Given the description of an element on the screen output the (x, y) to click on. 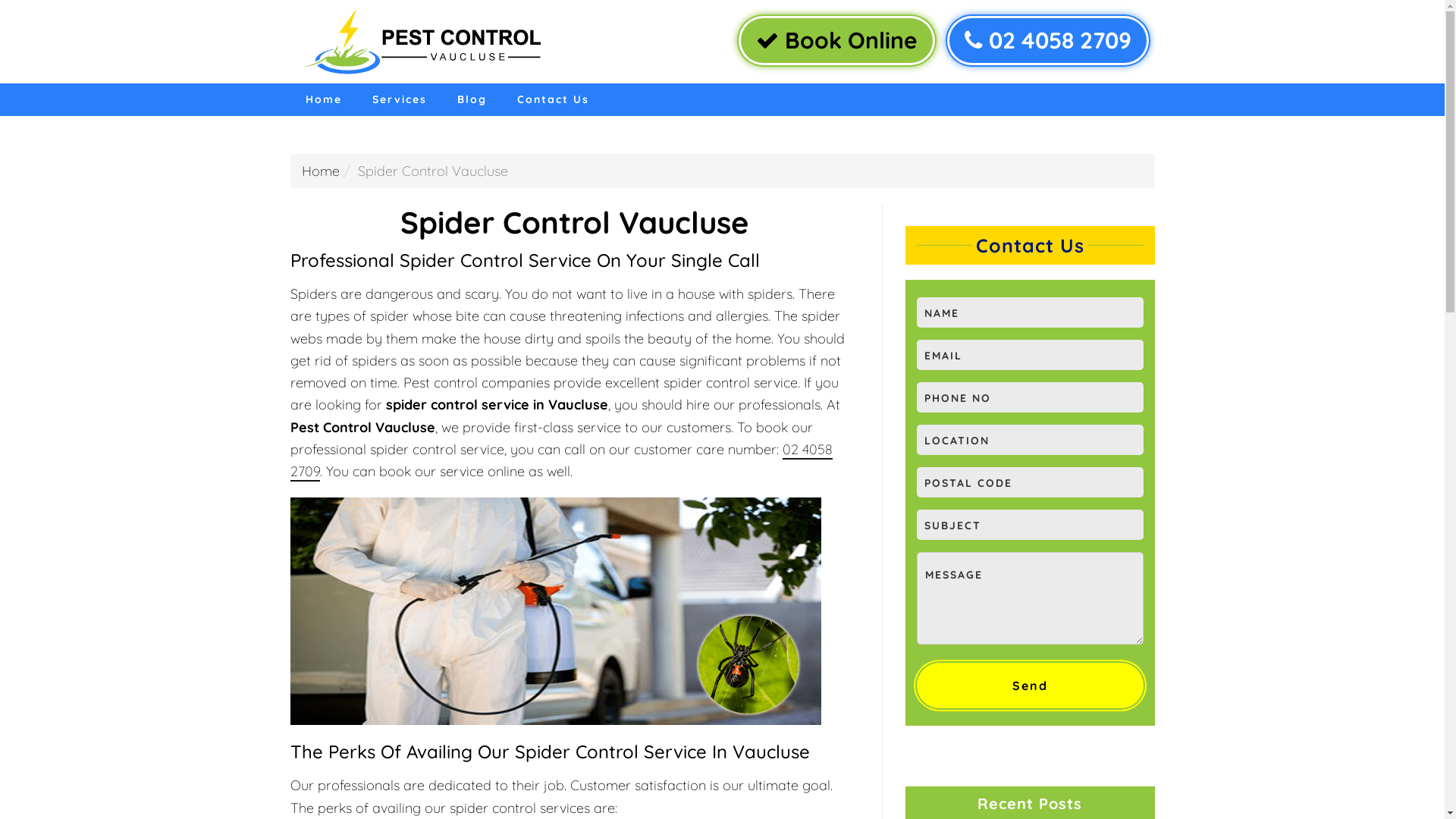
Services Element type: text (398, 99)
02 4058 2709 Element type: text (560, 460)
Home Element type: text (320, 170)
Blog Element type: text (471, 99)
02 4058 2709 Element type: text (1046, 40)
Contact Us Element type: text (553, 99)
Book Online Element type: text (836, 40)
Home Element type: text (322, 99)
Send Element type: text (1029, 685)
